Given the description of an element on the screen output the (x, y) to click on. 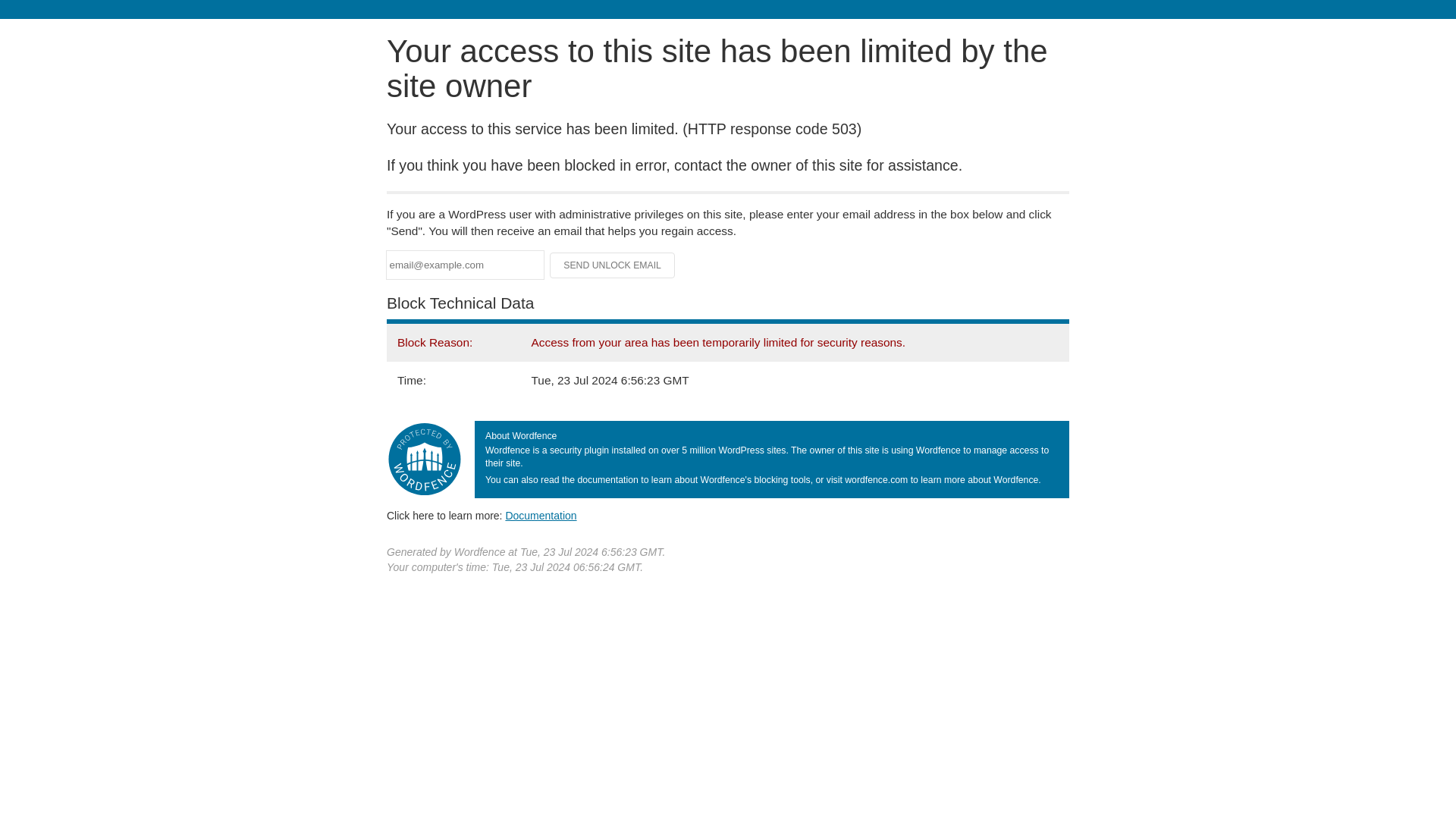
Send Unlock Email (612, 265)
Send Unlock Email (612, 265)
Documentation (540, 515)
